Given the description of an element on the screen output the (x, y) to click on. 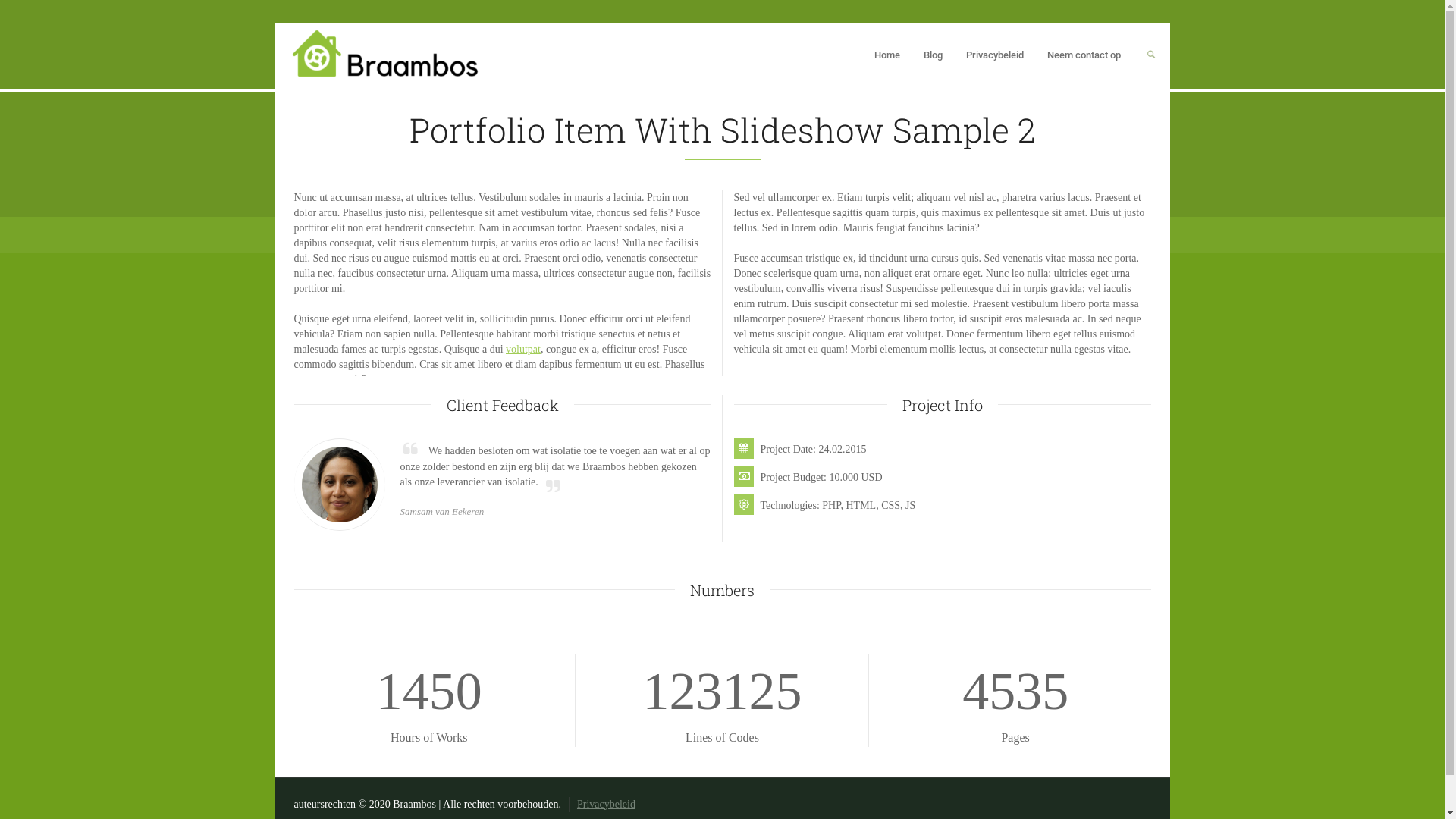
Search Element type: hover (1150, 55)
Home Element type: text (887, 55)
Neem contact op Element type: text (1083, 55)
volutpat Element type: text (522, 348)
Braambos Element type: hover (384, 53)
Privacybeleid Element type: text (606, 803)
Privacybeleid Element type: text (994, 55)
Blog Element type: text (933, 55)
